Given the description of an element on the screen output the (x, y) to click on. 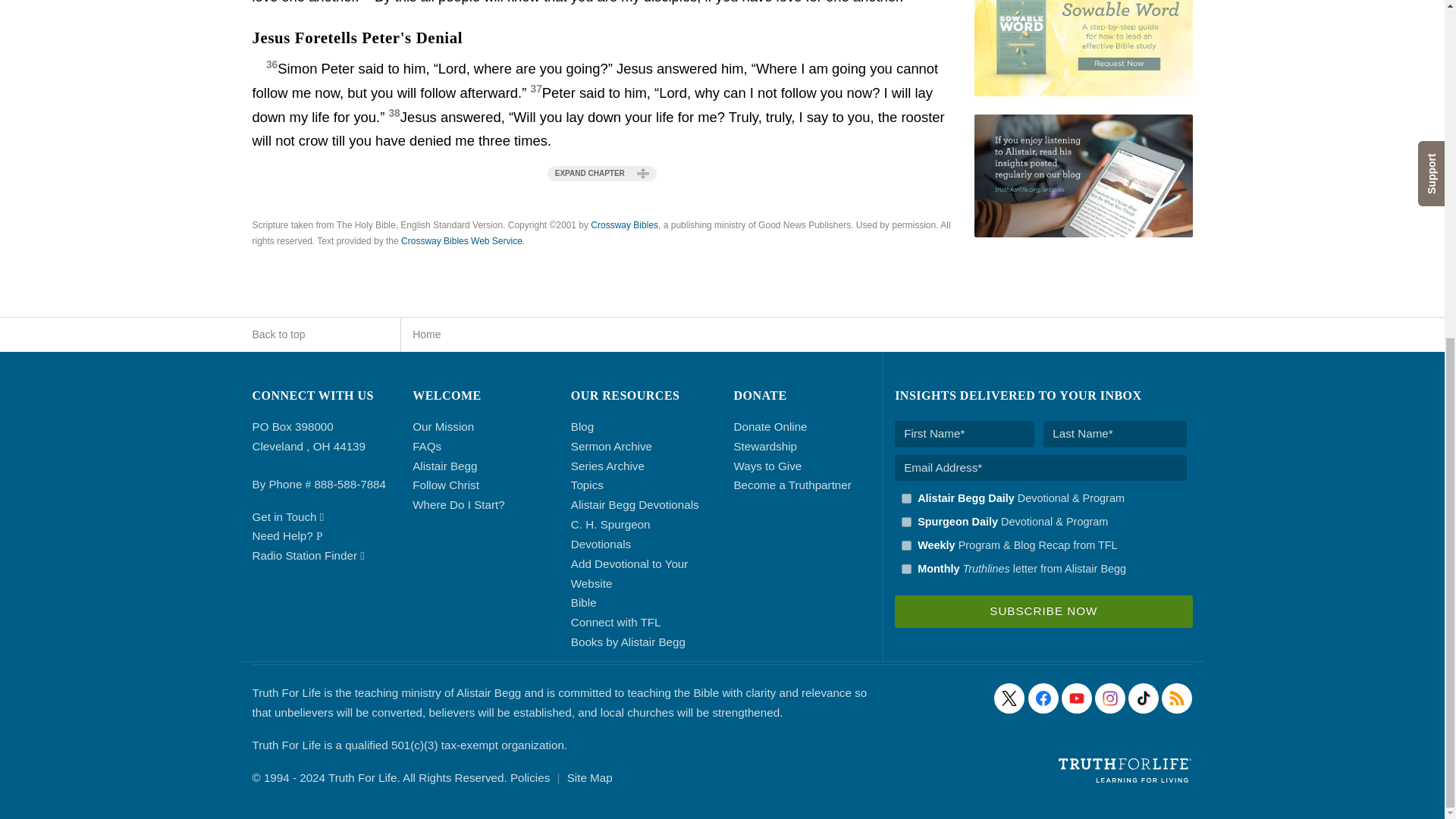
Subscribe Now (1043, 611)
Weekly Recap (906, 545)
Monthly letter from Alistair Begg (906, 569)
Alistair Begg Daily Devotional (906, 498)
Daily Devotional (906, 521)
